Given the description of an element on the screen output the (x, y) to click on. 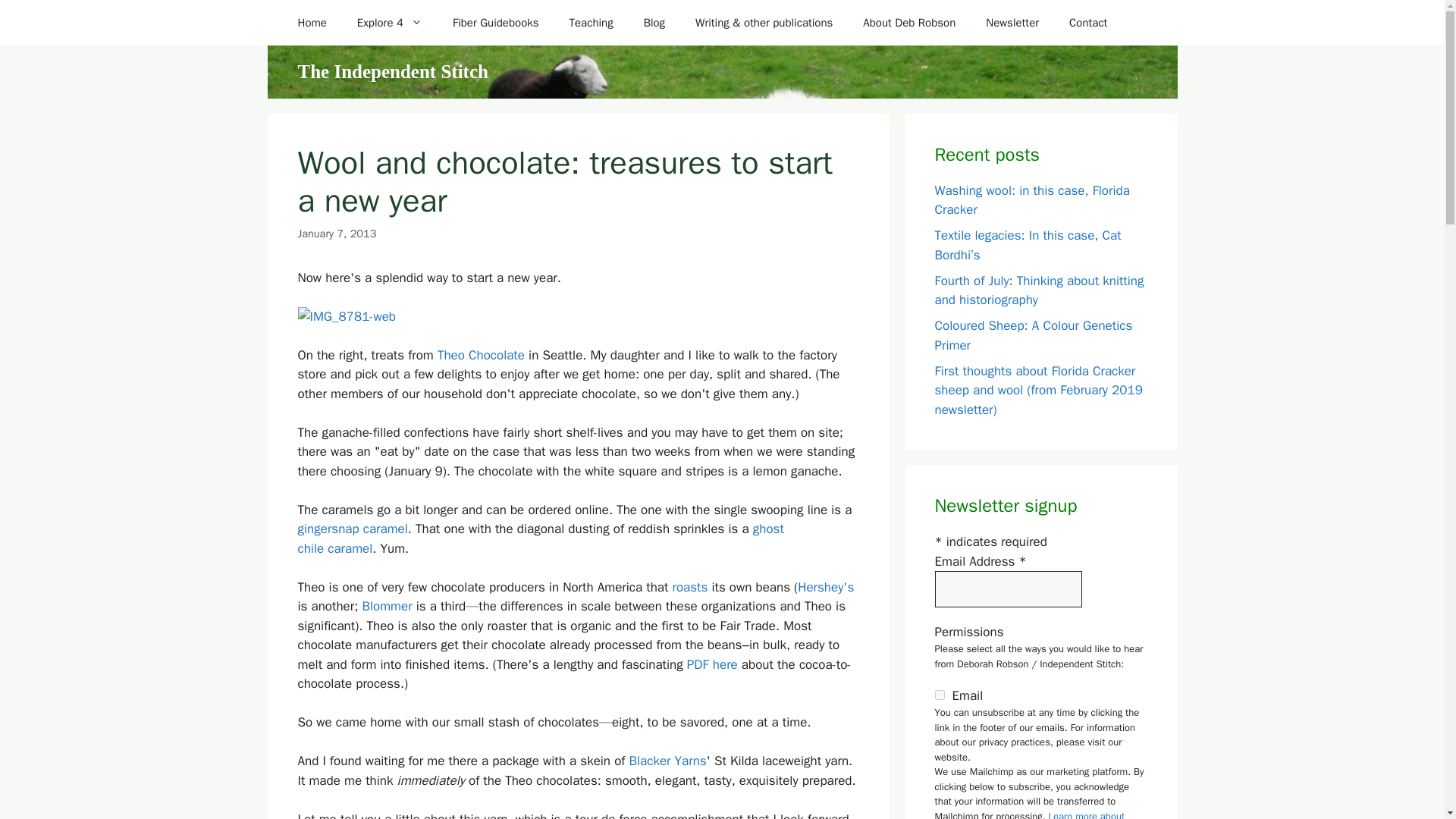
Y (938, 695)
Fiber Guidebooks (496, 22)
About Deb Robson (909, 22)
Contact (1088, 22)
The Independent Stitch (392, 71)
Newsletter (1012, 22)
Blog (653, 22)
Home (311, 22)
Teaching (591, 22)
Explore 4 (390, 22)
